Given the description of an element on the screen output the (x, y) to click on. 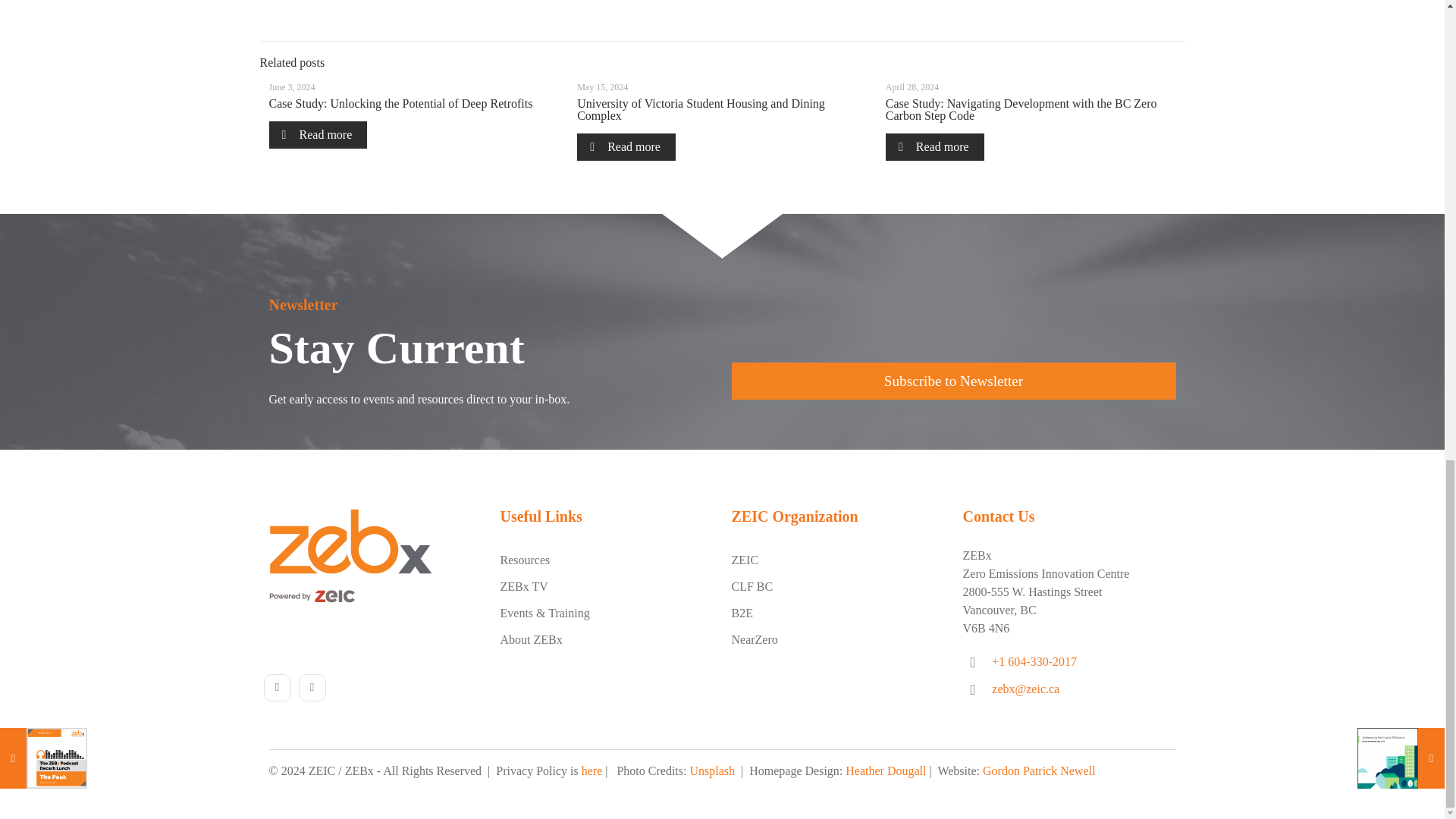
ZEBx Newsletter Subscribe (952, 380)
